Given the description of an element on the screen output the (x, y) to click on. 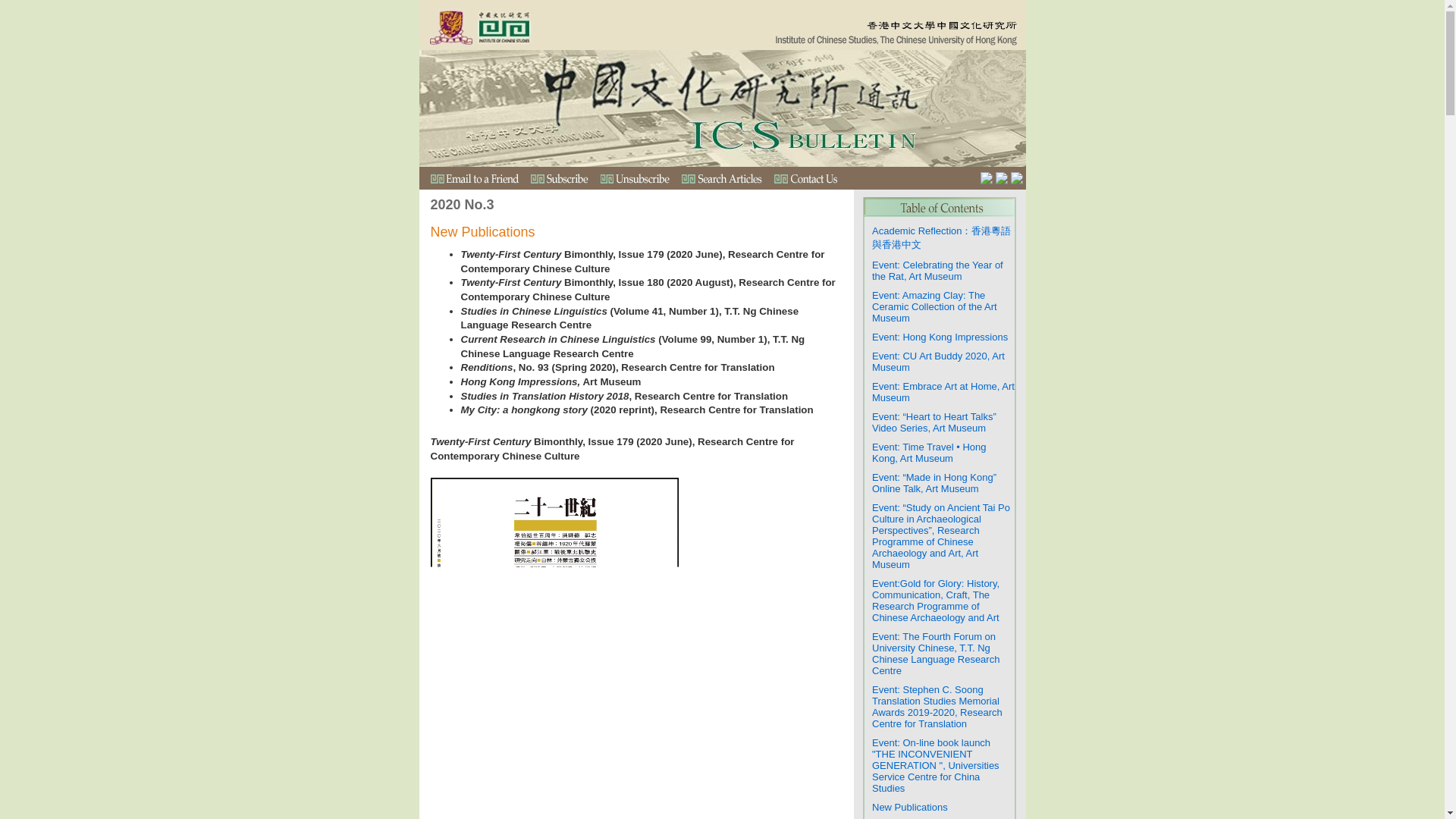
Event: CU Art Buddy 2020, Art Museum (938, 360)
Event: Hong Kong Impressions (939, 336)
Event: Embrace Art at Home, Art Museum (943, 391)
New Publications (909, 806)
Event: Celebrating the Year of the Rat, Art Museum (937, 269)
